Given the description of an element on the screen output the (x, y) to click on. 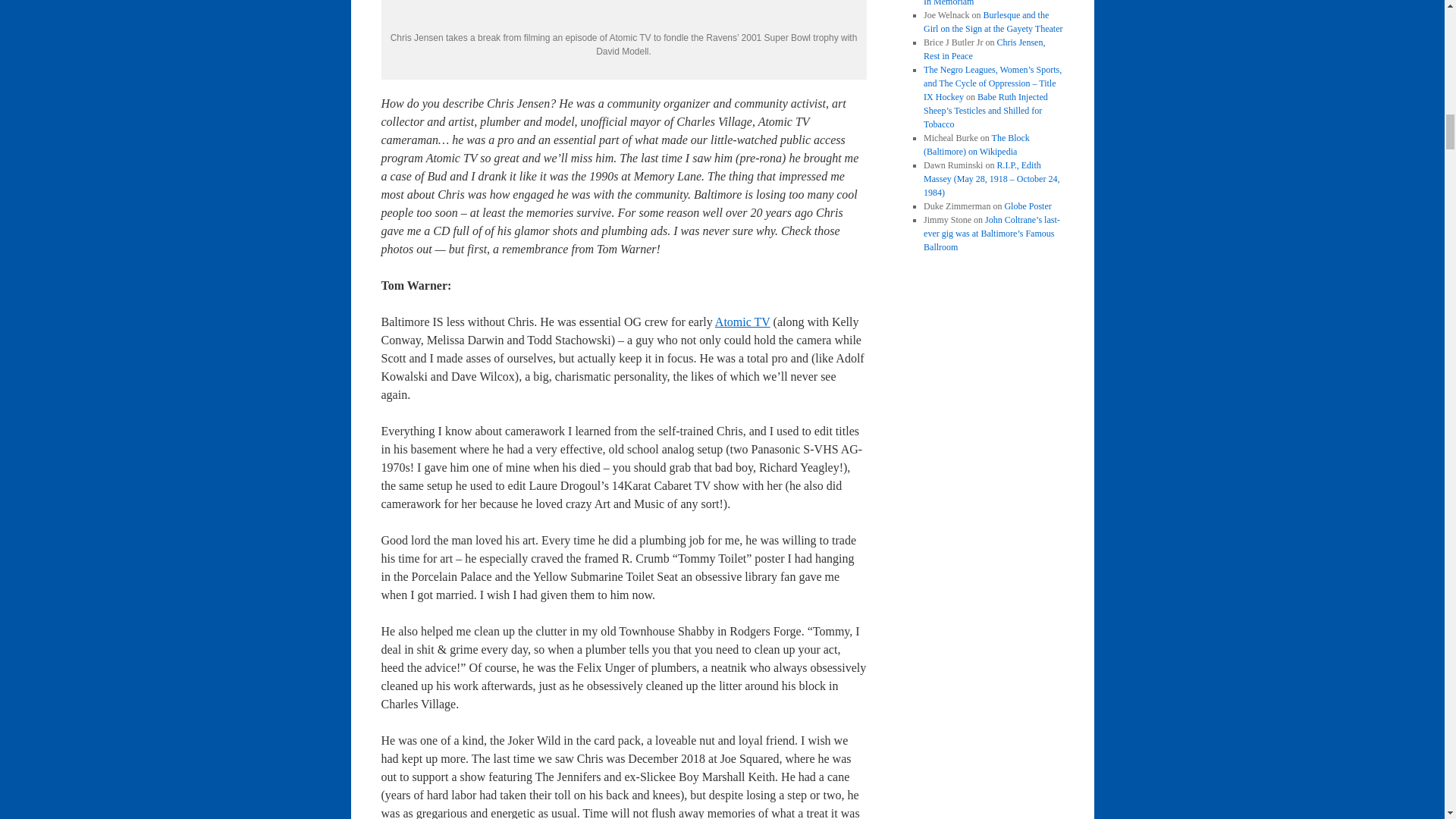
Atomic TV (742, 321)
